Given the description of an element on the screen output the (x, y) to click on. 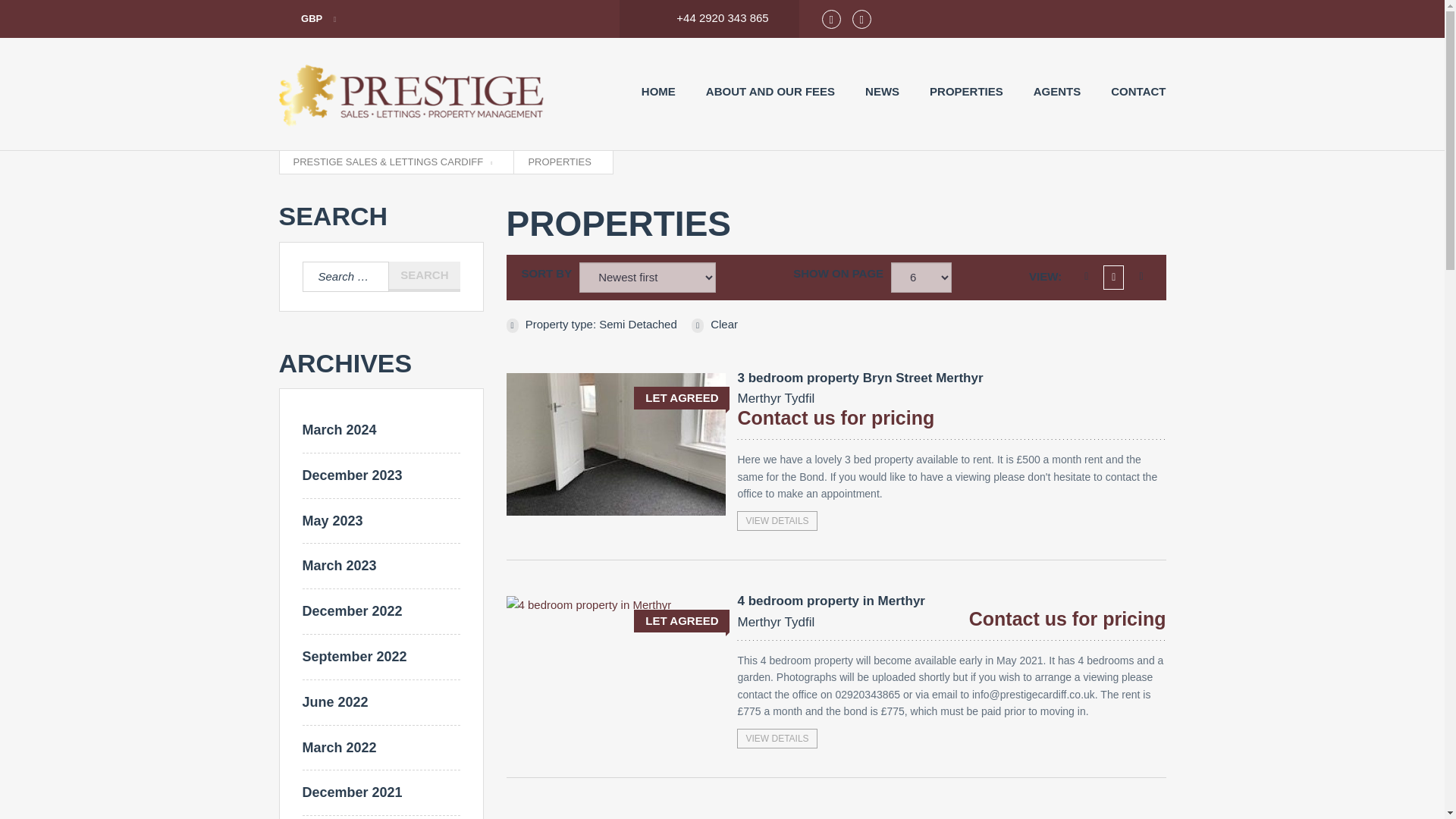
NEWS (881, 91)
VIEW DETAILS (859, 387)
CONTACT (776, 520)
VIEW DETAILS (1138, 91)
PROPERTIES (776, 738)
March 2024 (966, 91)
ABOUT AND OUR FEES (338, 429)
GBP (770, 91)
Search (307, 19)
Search (424, 276)
Search (424, 276)
AGENTS (424, 276)
HOME (1057, 91)
